Given the description of an element on the screen output the (x, y) to click on. 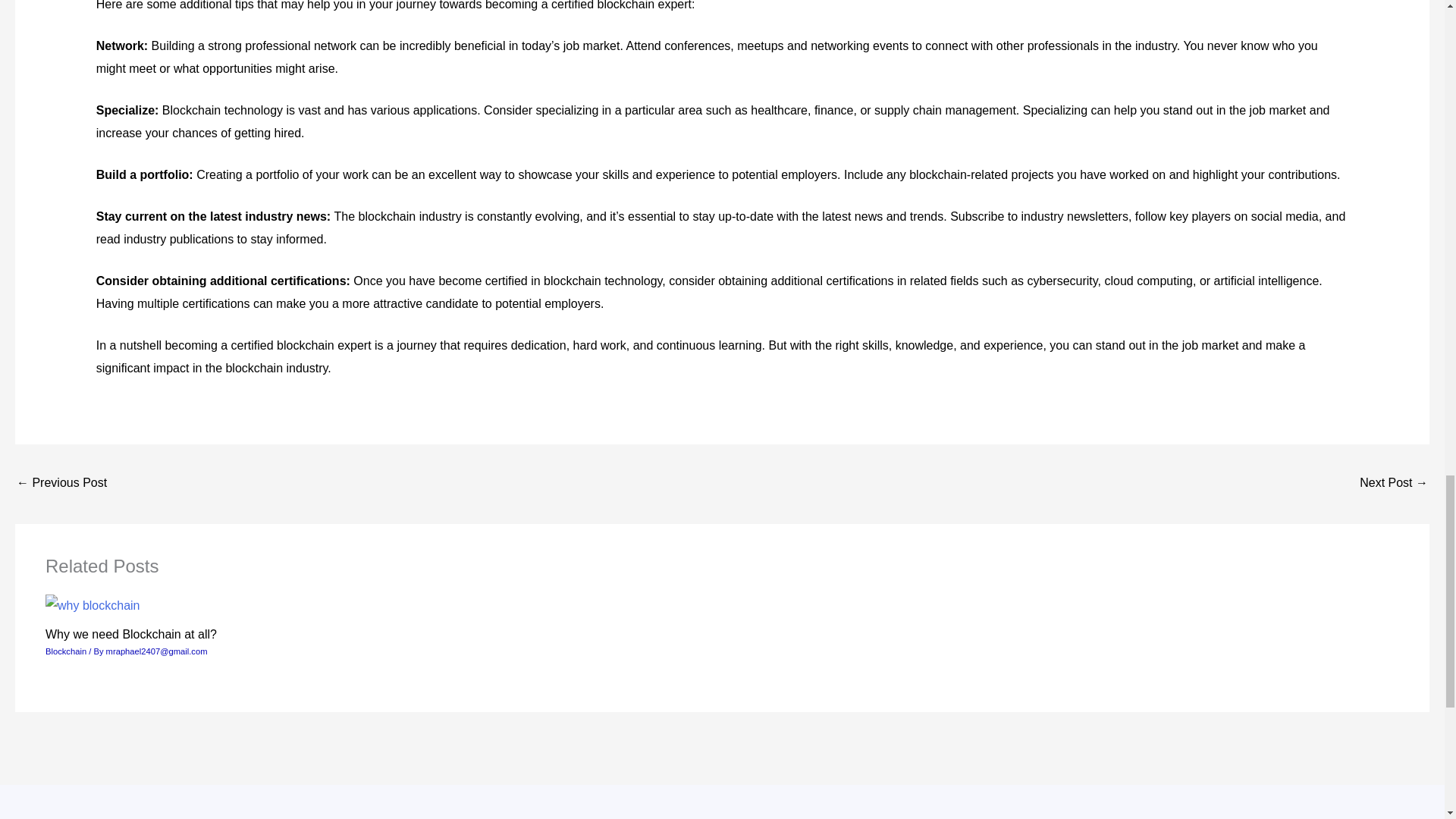
How AI is Transforming the Way We Work (61, 483)
Blockchain (65, 651)
Spoken English Classes in Raipur: Understanding the Fees (1393, 483)
Why we need Blockchain at all? (130, 634)
